Given the description of an element on the screen output the (x, y) to click on. 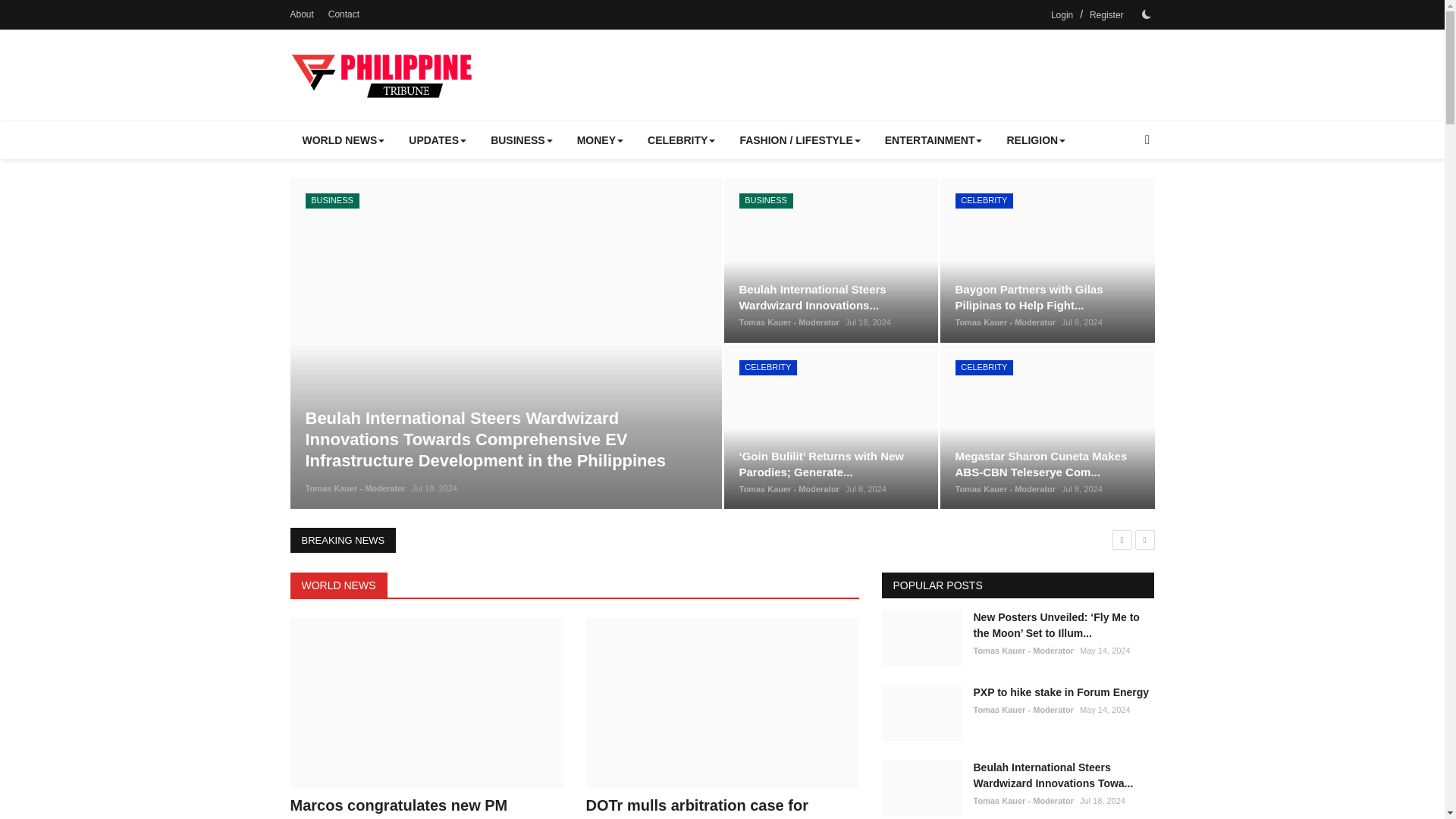
Register (1106, 15)
BUSINESS (521, 139)
WORLD NEWS (342, 139)
Login (1062, 15)
UPDATES (437, 139)
About (301, 14)
Contact (344, 14)
